Given the description of an element on the screen output the (x, y) to click on. 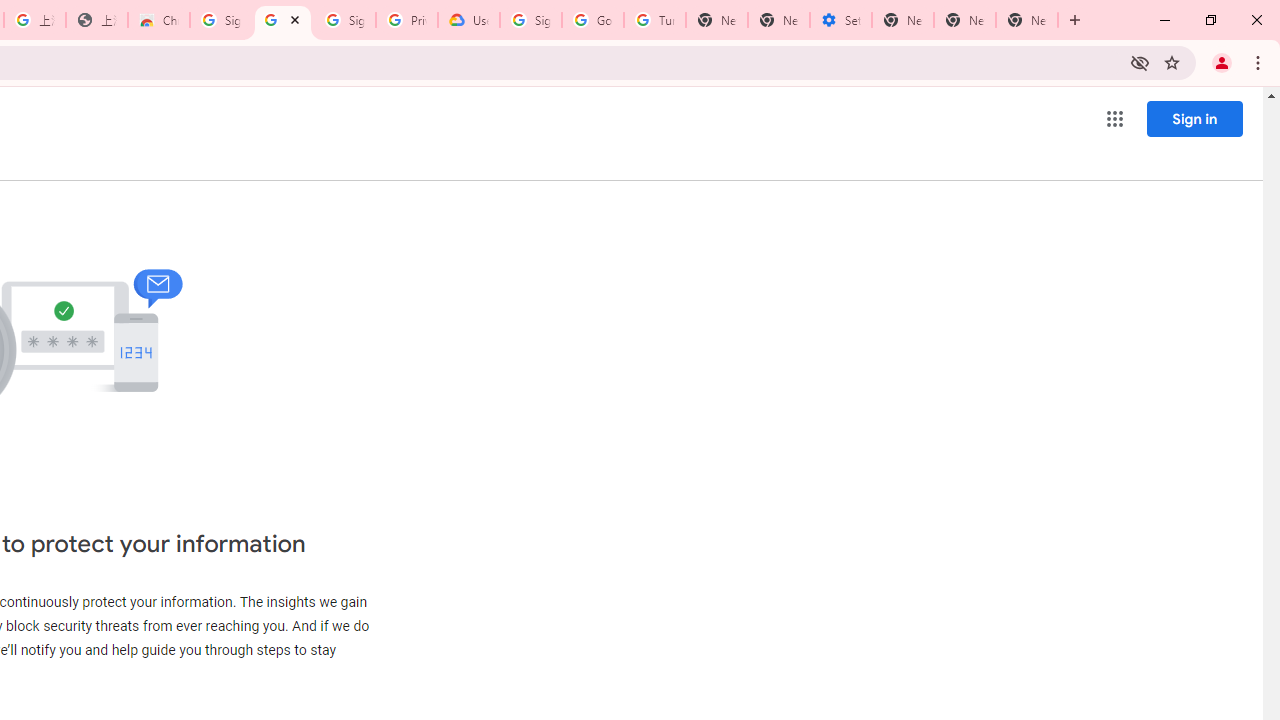
New Tab (1026, 20)
Settings - System (840, 20)
Sign in - Google Accounts (220, 20)
Google Account Help (592, 20)
